Given the description of an element on the screen output the (x, y) to click on. 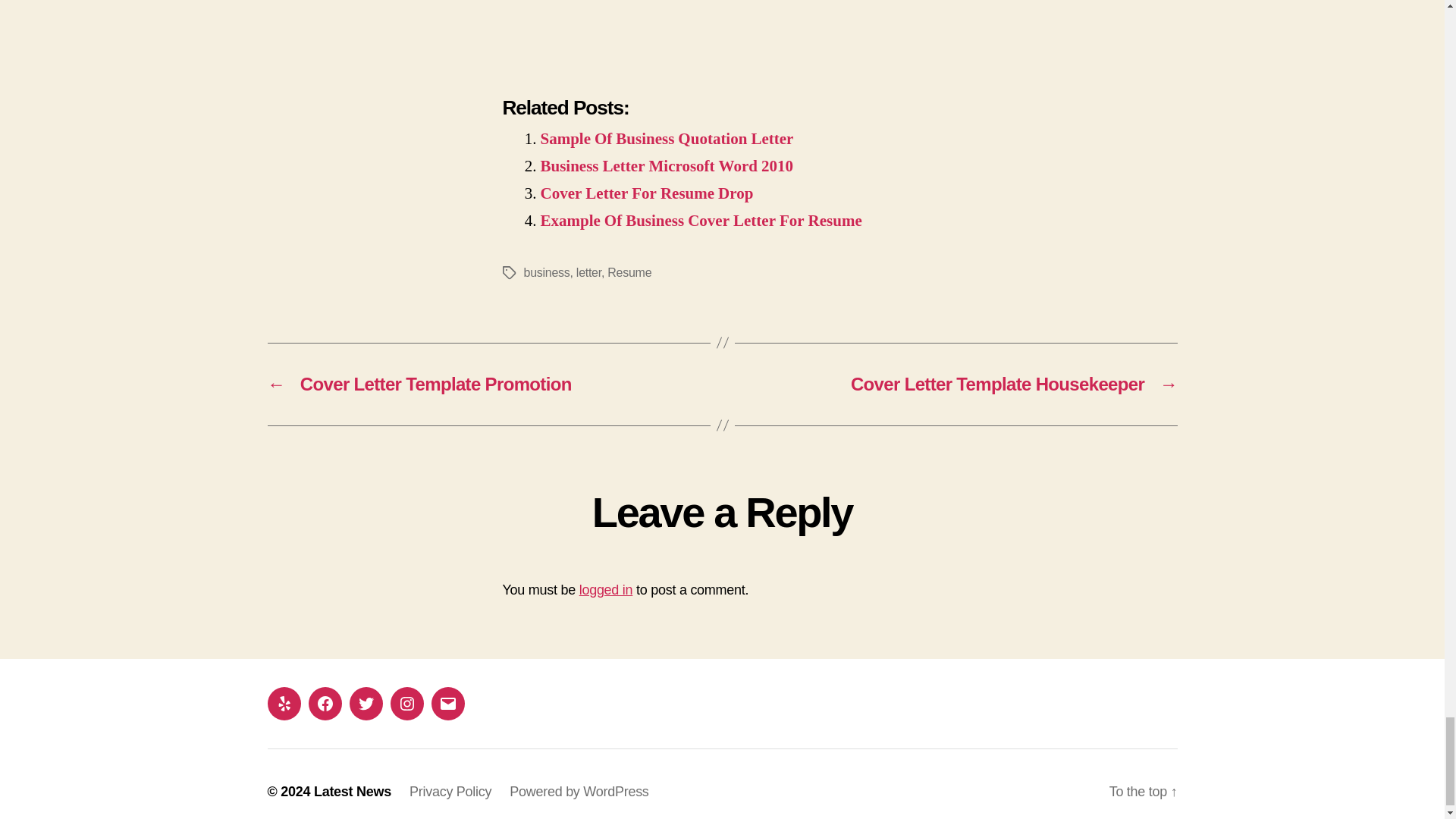
Sample Of Business Quotation Letter (666, 138)
Business Letter Microsoft Word 2010 (666, 166)
Email (447, 703)
letter (588, 272)
Cover Letter For Resume Drop (646, 193)
Resume (628, 272)
Twitter (365, 703)
Cover Letter For Resume Drop (646, 193)
Powered by WordPress (578, 791)
Privacy Policy (450, 791)
Latest News (352, 791)
logged in (606, 589)
business (545, 272)
Sample Of Business Quotation Letter (666, 138)
Example Of Business Cover Letter For Resume (700, 220)
